Given the description of an element on the screen output the (x, y) to click on. 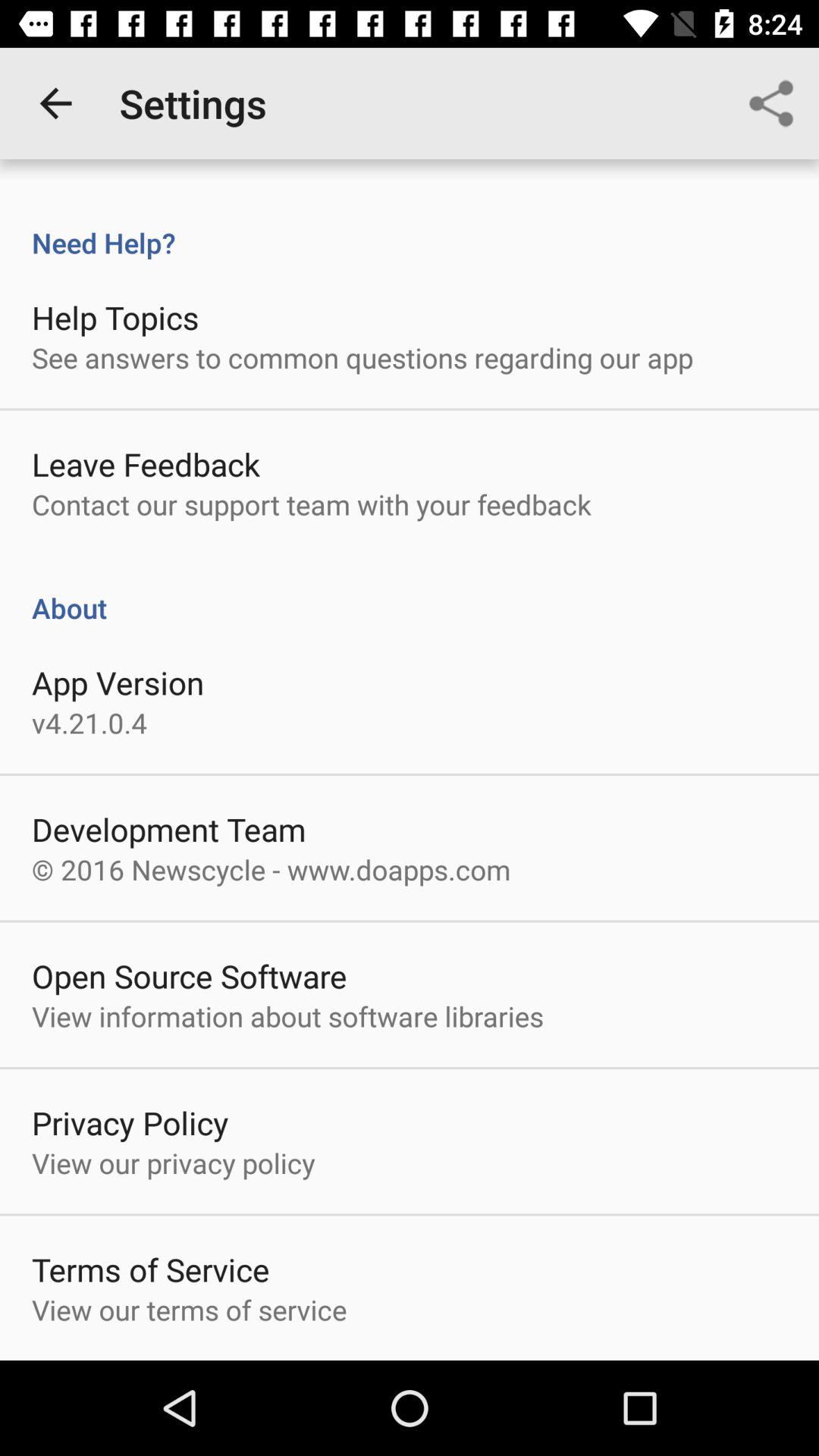
select the item above the view information about icon (188, 975)
